Given the description of an element on the screen output the (x, y) to click on. 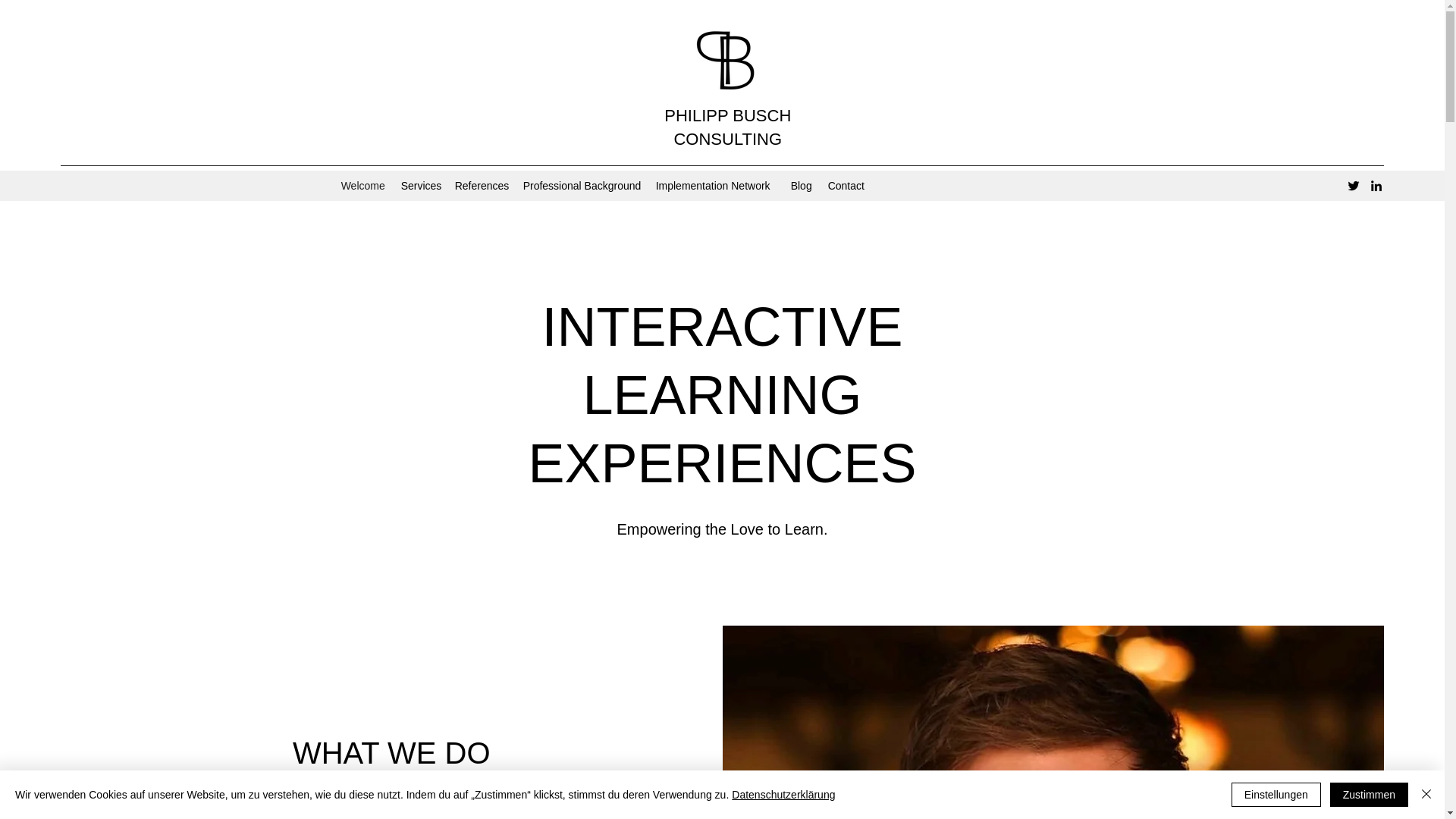
References (480, 185)
Zustimmen (1368, 794)
Professional Background (581, 185)
Implementation Network (715, 185)
Welcome (363, 185)
Contact (847, 185)
Blog (802, 185)
Services (419, 185)
Einstellungen (1275, 794)
PHILIPP BUSCH CONSULTING (726, 127)
